Given the description of an element on the screen output the (x, y) to click on. 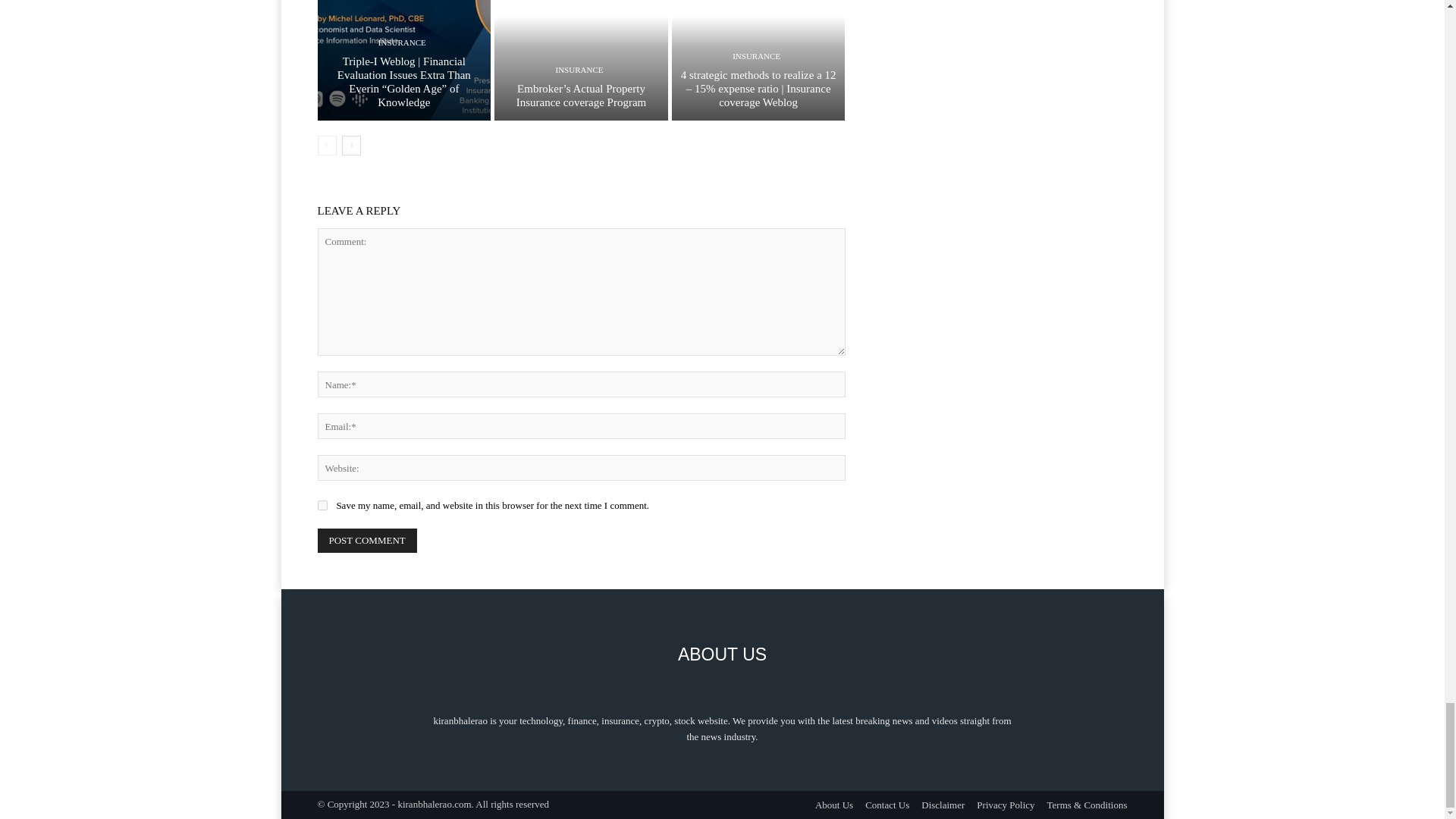
Post Comment (366, 540)
yes (321, 505)
